Given the description of an element on the screen output the (x, y) to click on. 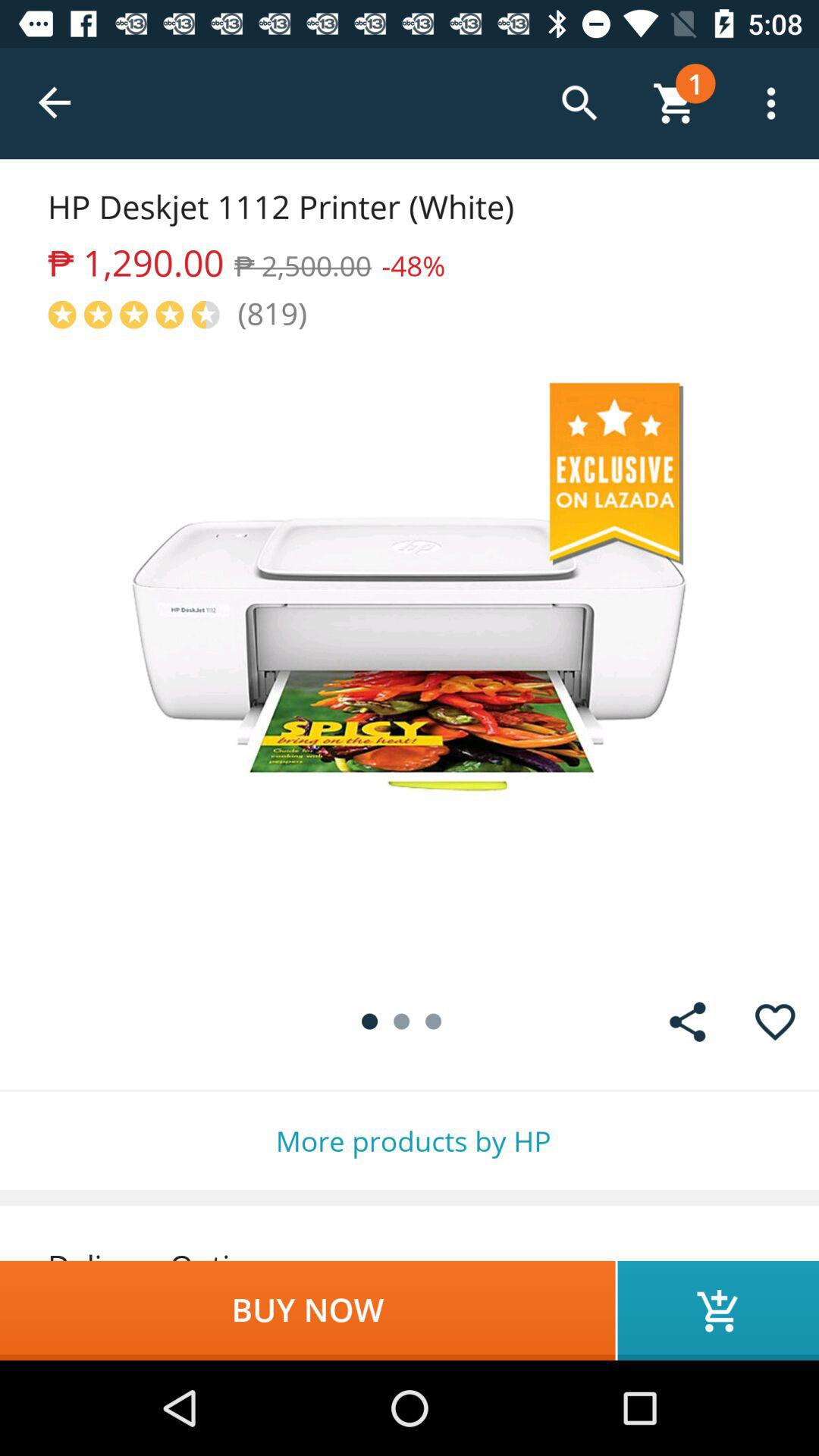
like item to view later (775, 1021)
